Given the description of an element on the screen output the (x, y) to click on. 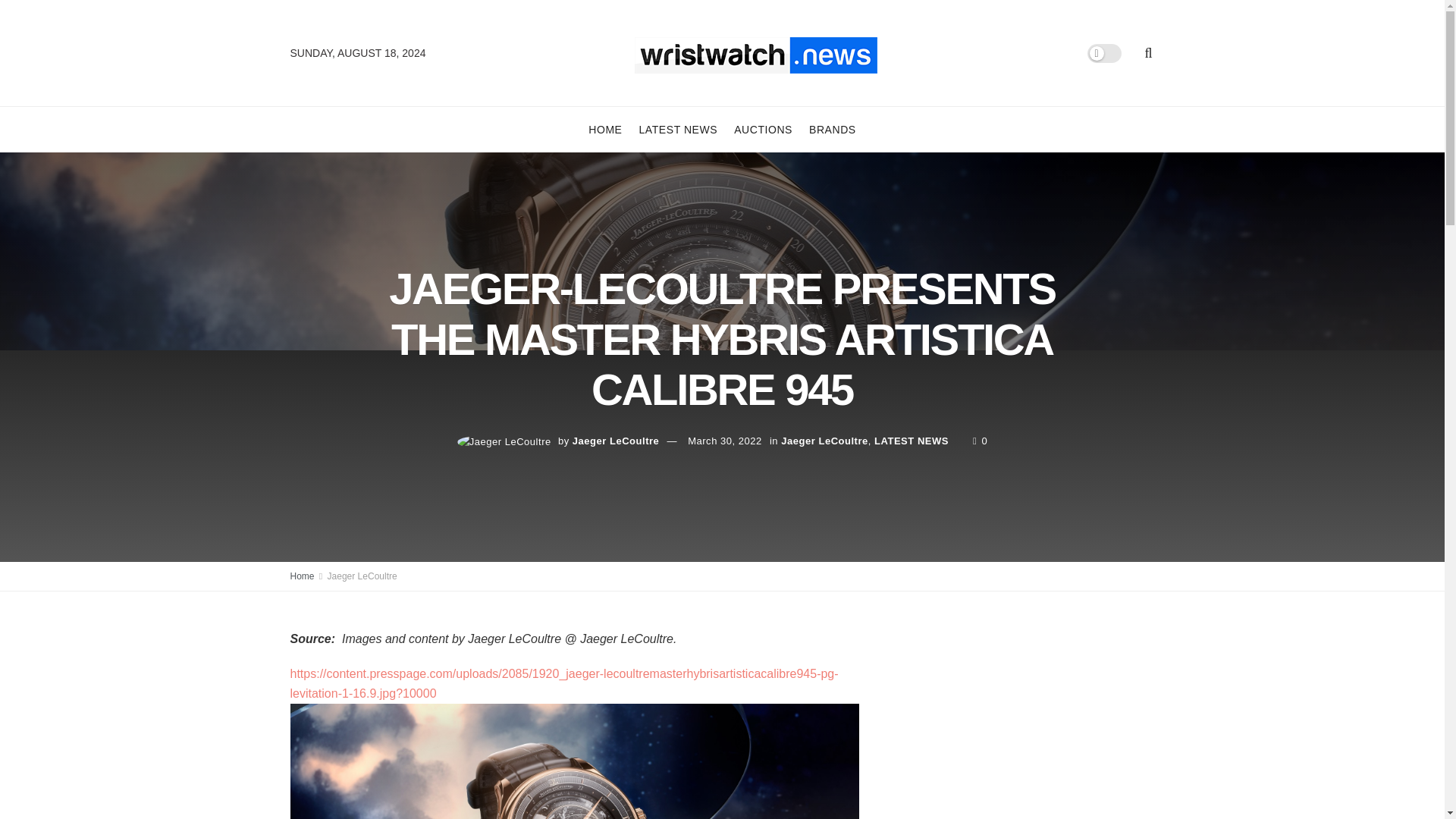
Home (301, 575)
0 (979, 440)
BRANDS (832, 129)
LATEST NEWS (912, 440)
LATEST NEWS (678, 129)
Jaeger LeCoultre (615, 440)
Jaeger LeCoultre (823, 440)
Jaeger LeCoultre (362, 575)
AUCTIONS (762, 129)
March 30, 2022 (724, 440)
